Given the description of an element on the screen output the (x, y) to click on. 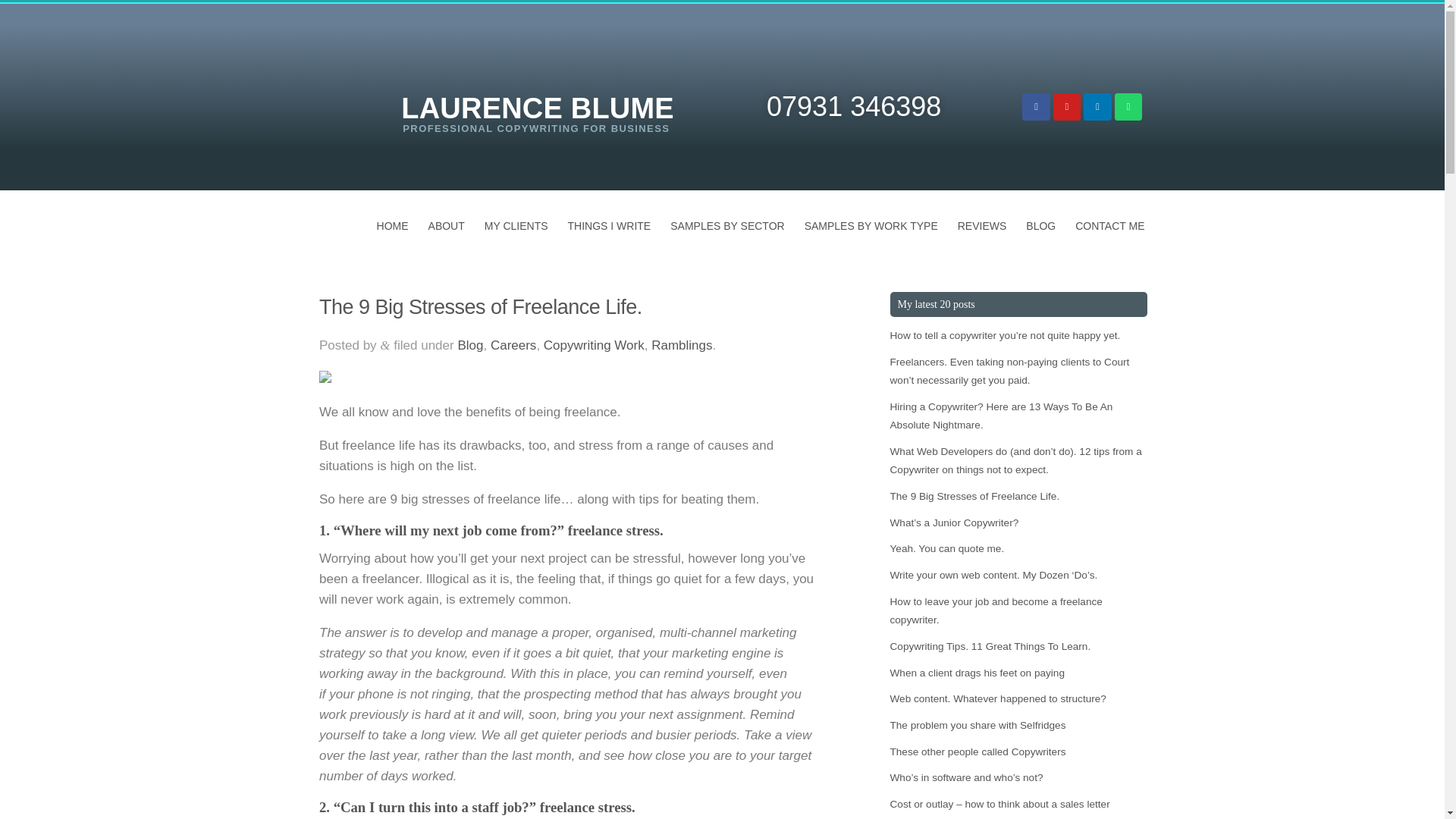
HOME (392, 225)
THINGS I WRITE (609, 225)
ABOUT (446, 225)
MY CLIENTS (515, 225)
07931 346398 (853, 106)
SAMPLES BY SECTOR (727, 225)
SAMPLES BY WORK TYPE (870, 225)
